Given the description of an element on the screen output the (x, y) to click on. 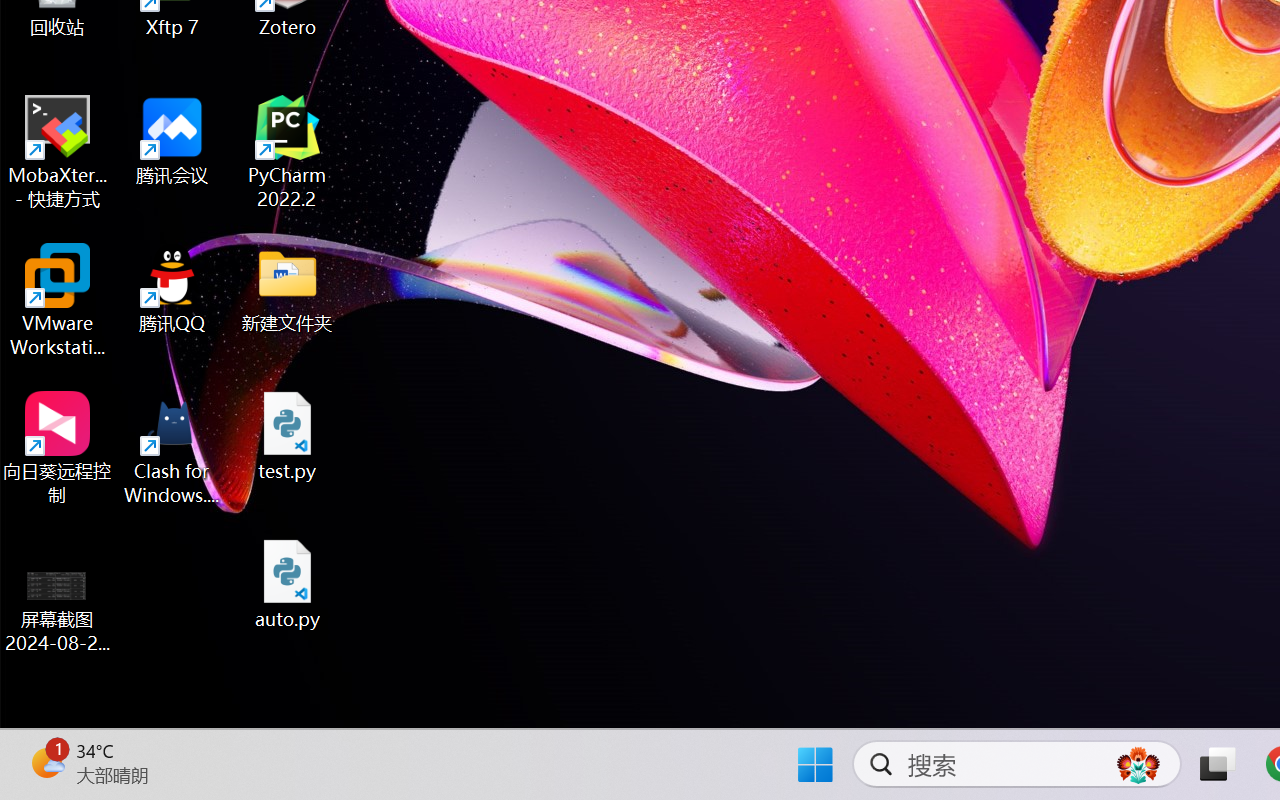
VMware Workstation Pro (57, 300)
PyCharm 2022.2 (287, 152)
